Given the description of an element on the screen output the (x, y) to click on. 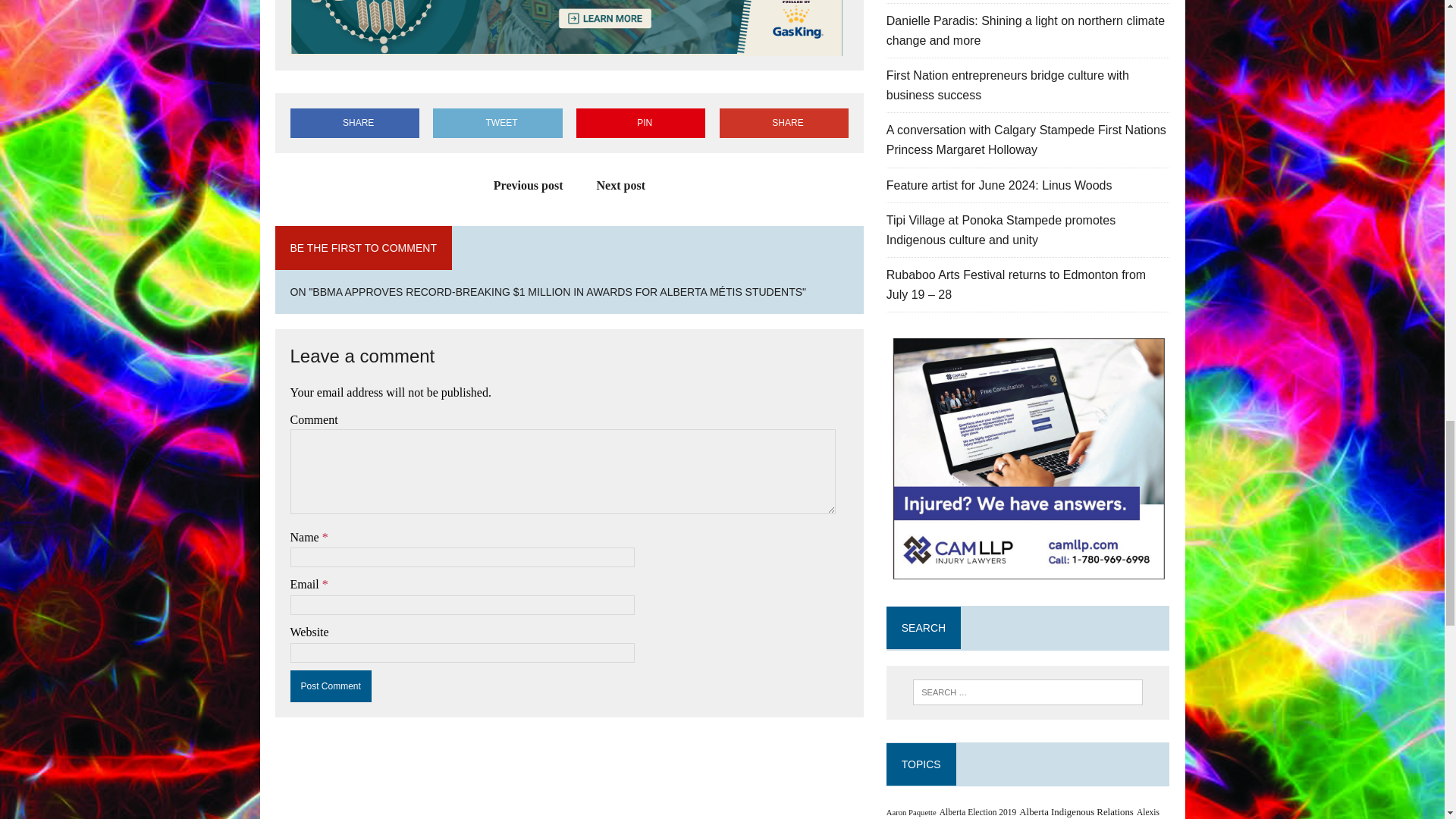
Pin This Post (640, 123)
Tweet This Post (497, 123)
Share on Facebook (354, 123)
Post Comment (330, 685)
